Given the description of an element on the screen output the (x, y) to click on. 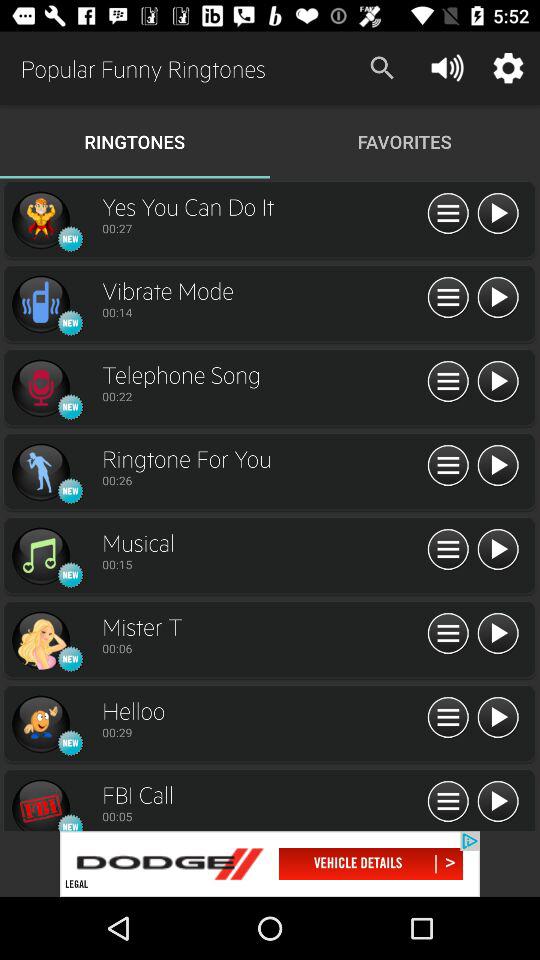
menu (447, 381)
